Given the description of an element on the screen output the (x, y) to click on. 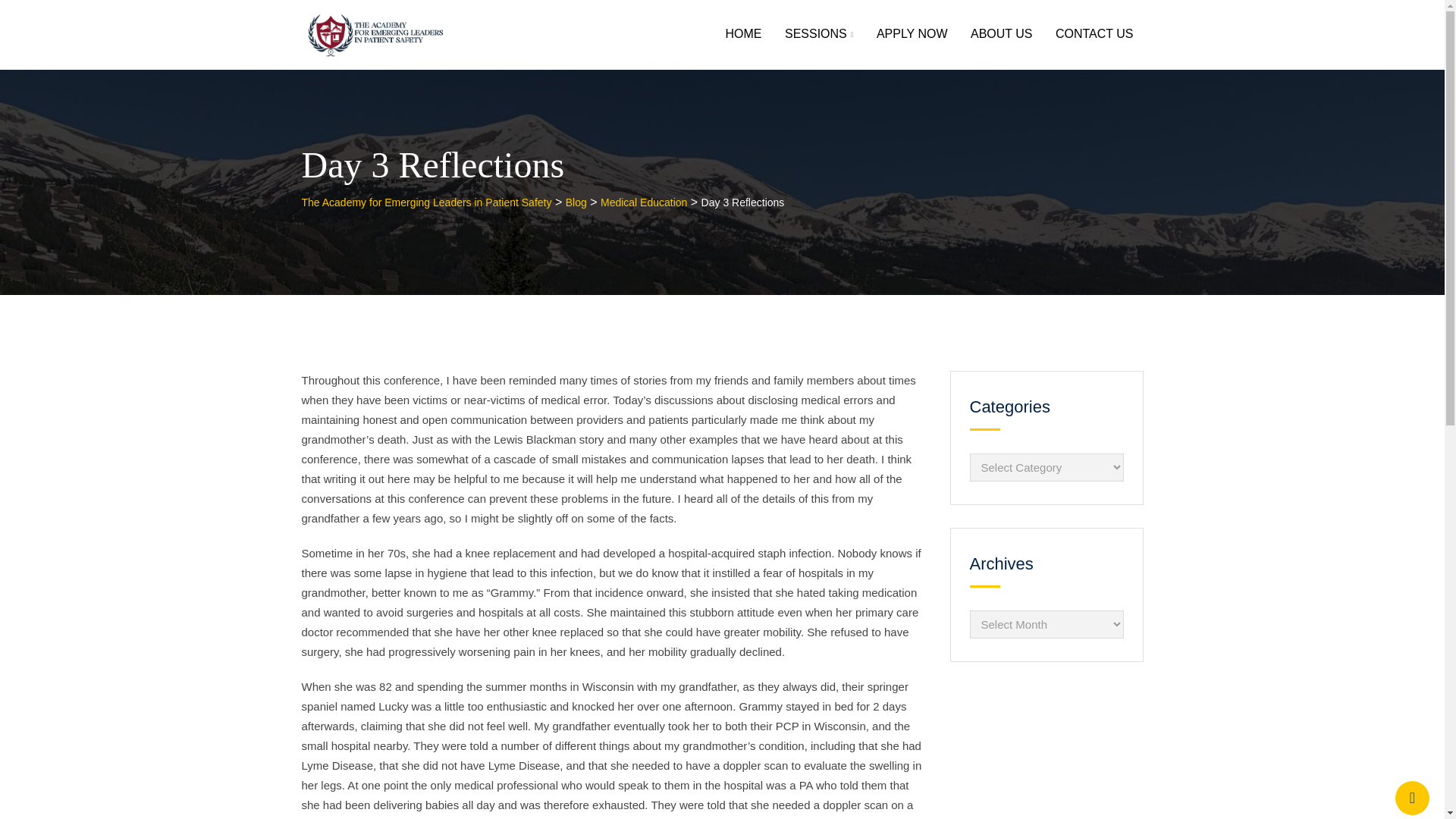
Medical Education (643, 202)
Go to The Academy for Emerging Leaders in Patient Safety. (426, 202)
SESSIONS (818, 34)
APPLY NOW (912, 33)
CONTACT US (1093, 33)
The Academy for Emerging Leaders in Patient Safety (426, 202)
Go to the Medical Education Category archives. (643, 202)
Blog (576, 202)
ABOUT US (1001, 33)
Go to Blog. (576, 202)
